Given the description of an element on the screen output the (x, y) to click on. 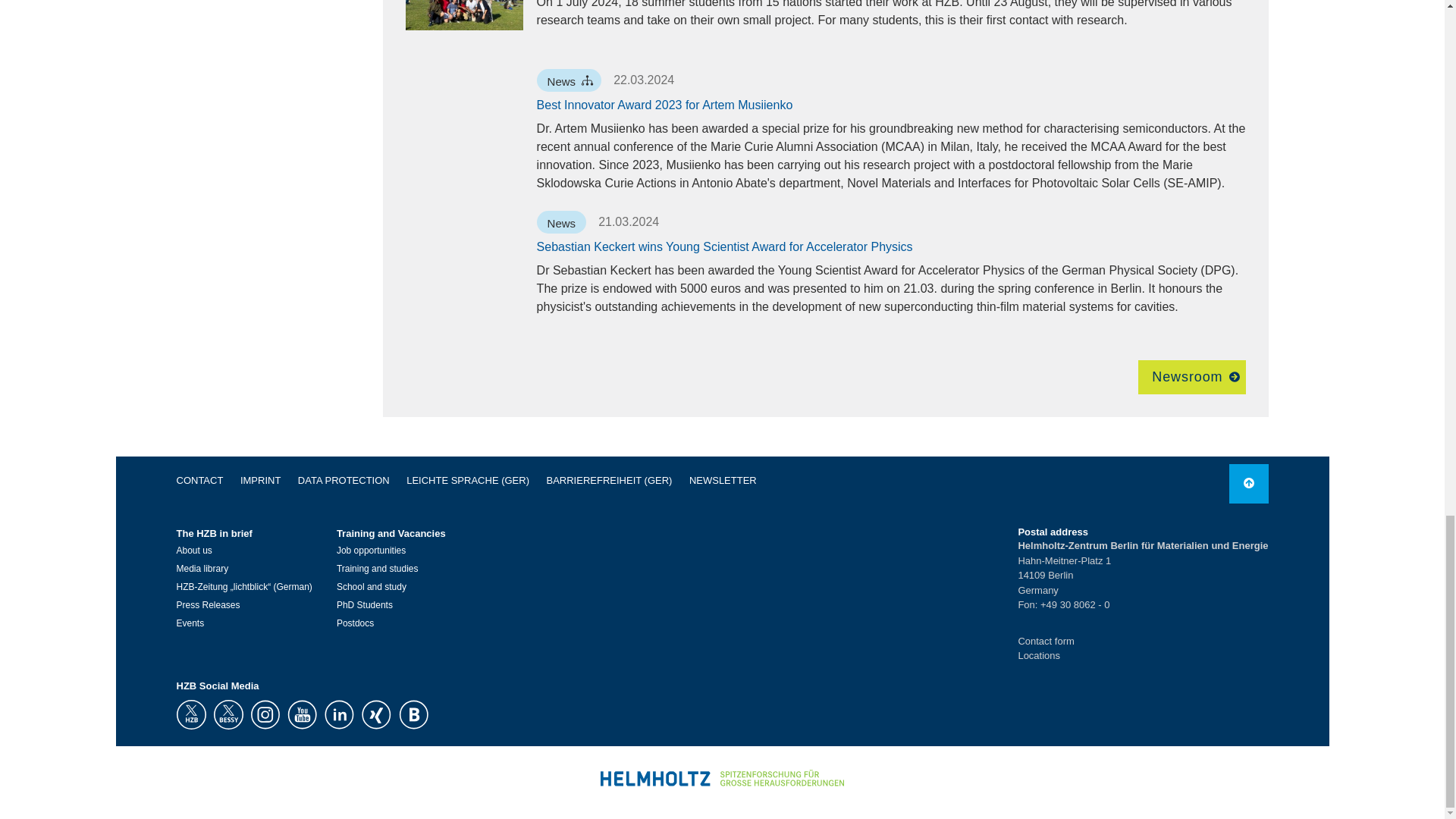
HZB X (190, 714)
HZB Instagram (264, 714)
HZB blog (413, 714)
HZB LinkedIn (338, 714)
HZB Youtube (300, 714)
Xing (375, 714)
BESSY X (228, 714)
